Given the description of an element on the screen output the (x, y) to click on. 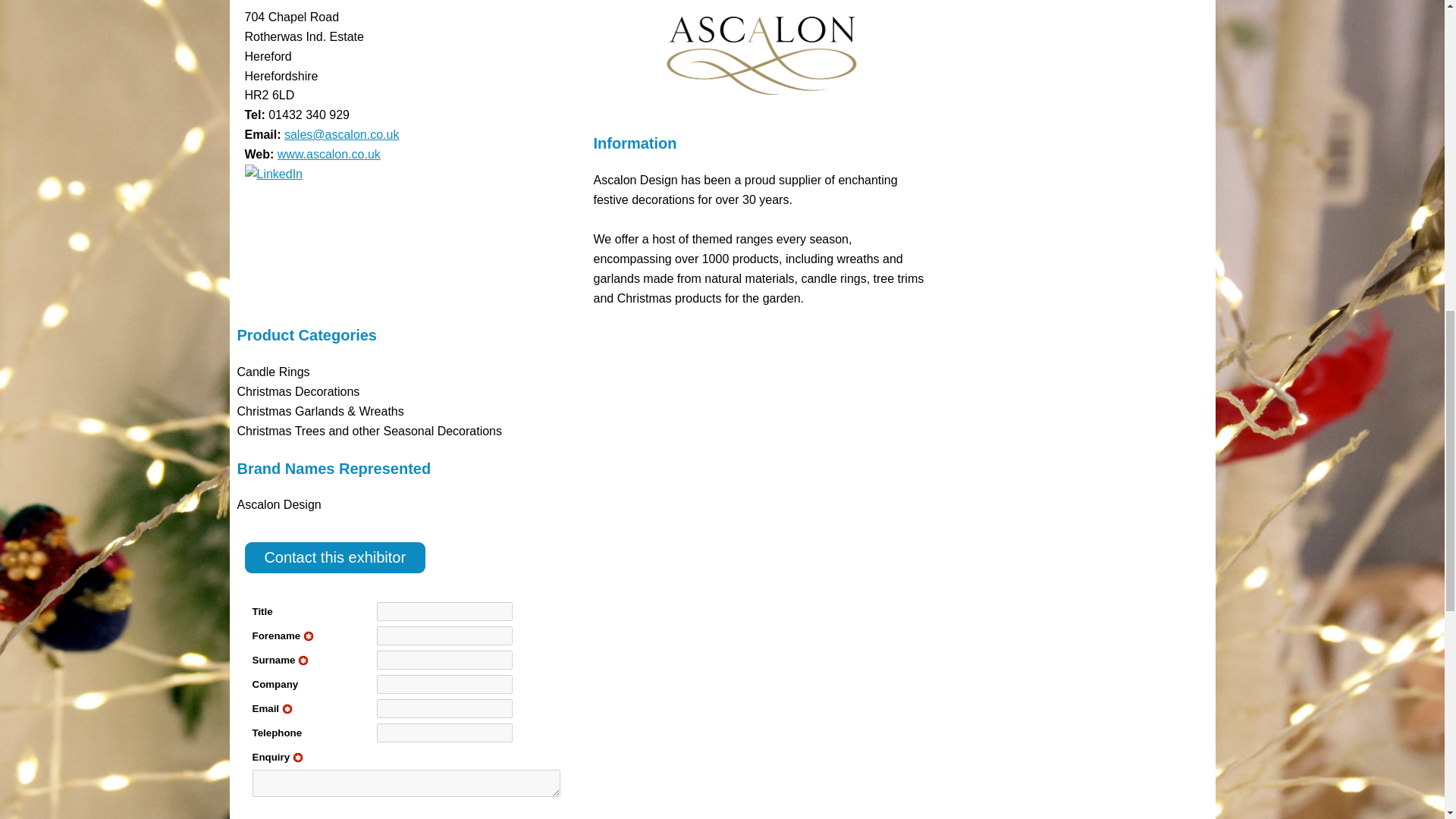
LinkedIn (273, 174)
